Given the description of an element on the screen output the (x, y) to click on. 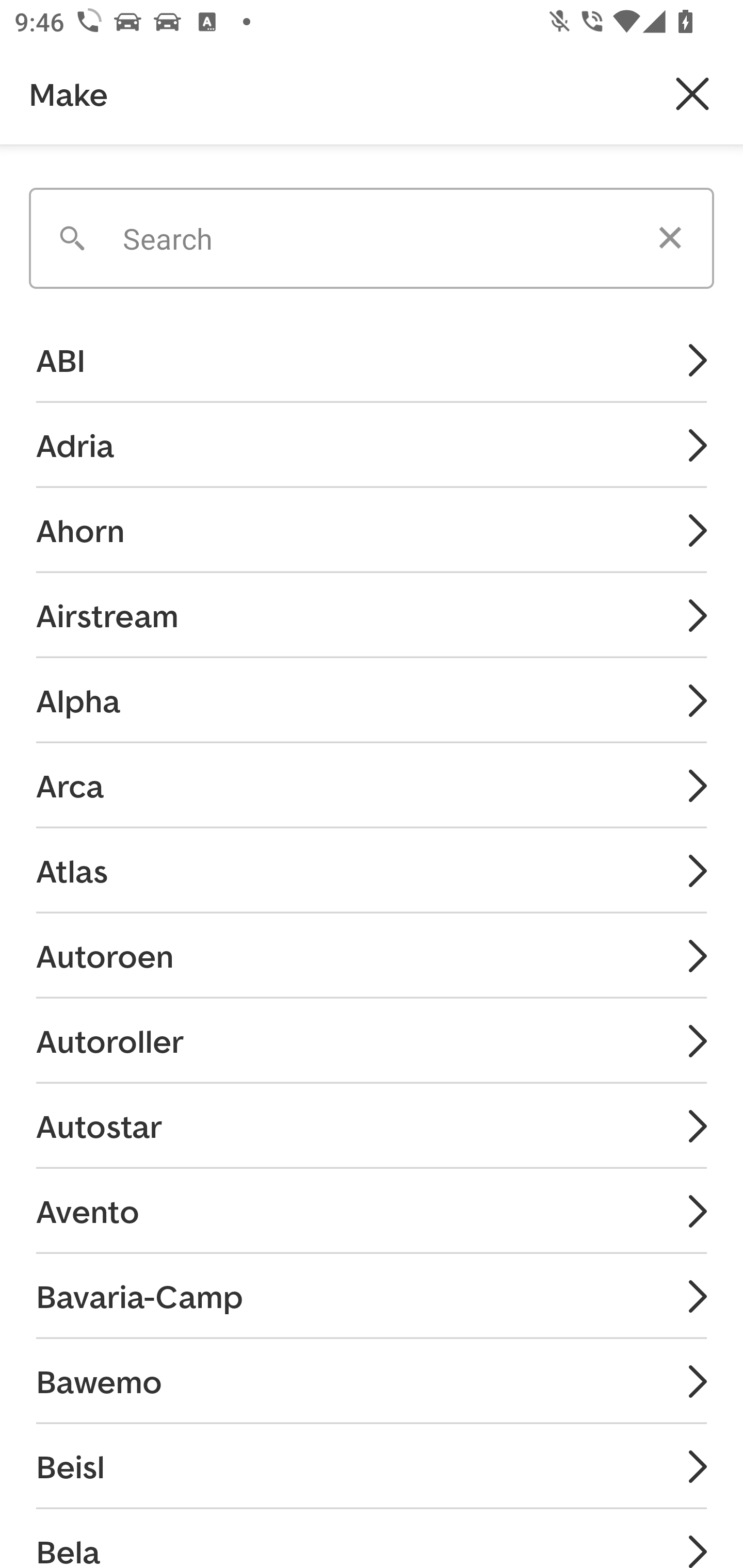
close (692, 93)
search icon clear icon Search (371, 231)
clear icon (670, 238)
ABI right arrow (371, 360)
Adria right arrow (371, 444)
Ahorn right arrow (371, 529)
Airstream right arrow (371, 614)
Alpha right arrow (371, 699)
Arca right arrow (371, 785)
Atlas right arrow (371, 869)
Autoroen right arrow (371, 955)
Autoroller right arrow (371, 1040)
Autostar right arrow (371, 1125)
Avento right arrow (371, 1210)
Bavaria-Camp right arrow (371, 1295)
Bawemo right arrow (371, 1381)
Beisl right arrow (371, 1465)
Bela right arrow (371, 1538)
